Given the description of an element on the screen output the (x, y) to click on. 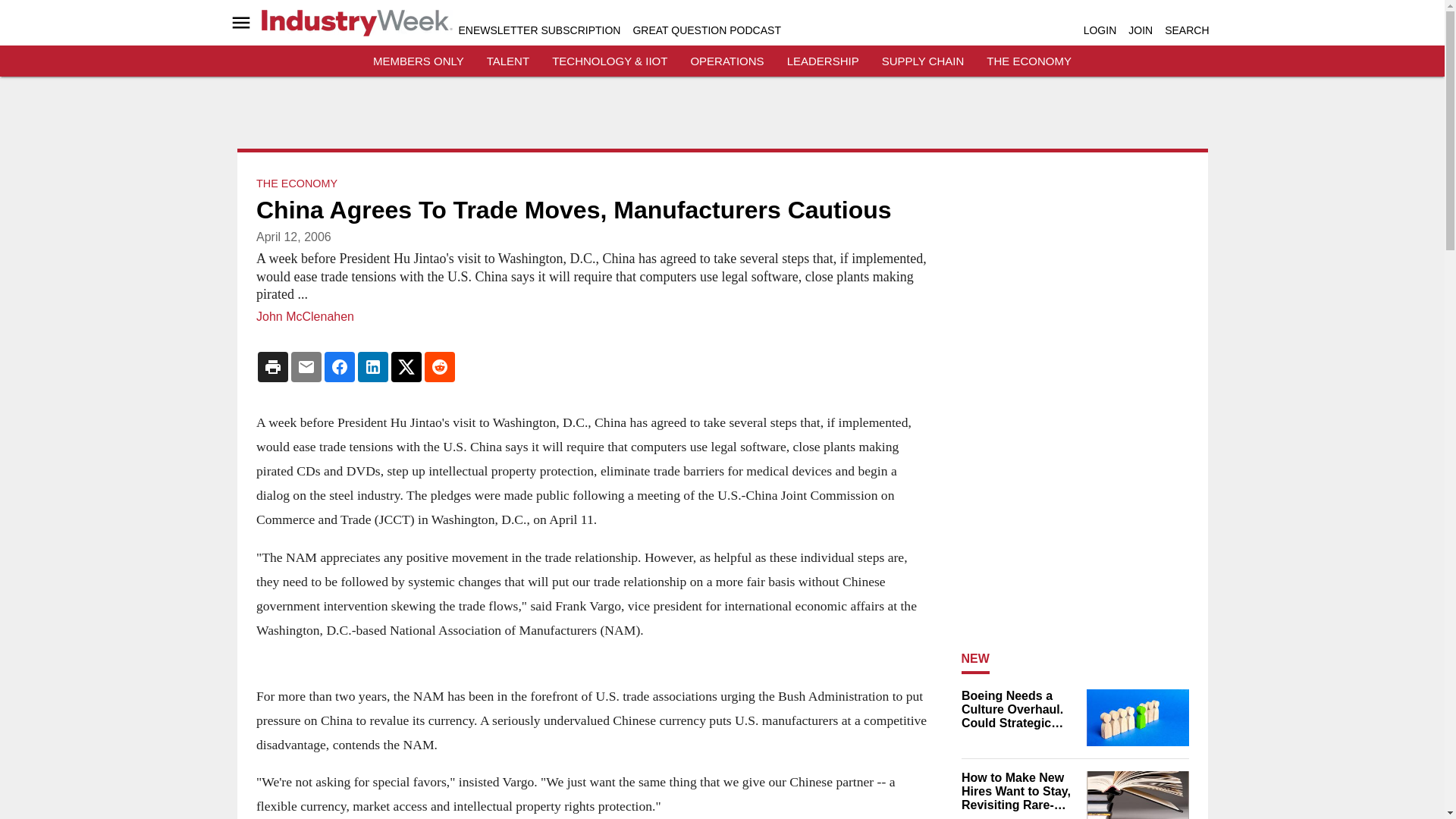
ENEWSLETTER SUBSCRIPTION (539, 30)
THE ECONOMY (296, 183)
MEMBERS ONLY (418, 60)
SUPPLY CHAIN (922, 60)
SEARCH (1186, 30)
JOIN (1140, 30)
GREAT QUESTION PODCAST (705, 30)
LOGIN (1099, 30)
OPERATIONS (726, 60)
LEADERSHIP (823, 60)
